Given the description of an element on the screen output the (x, y) to click on. 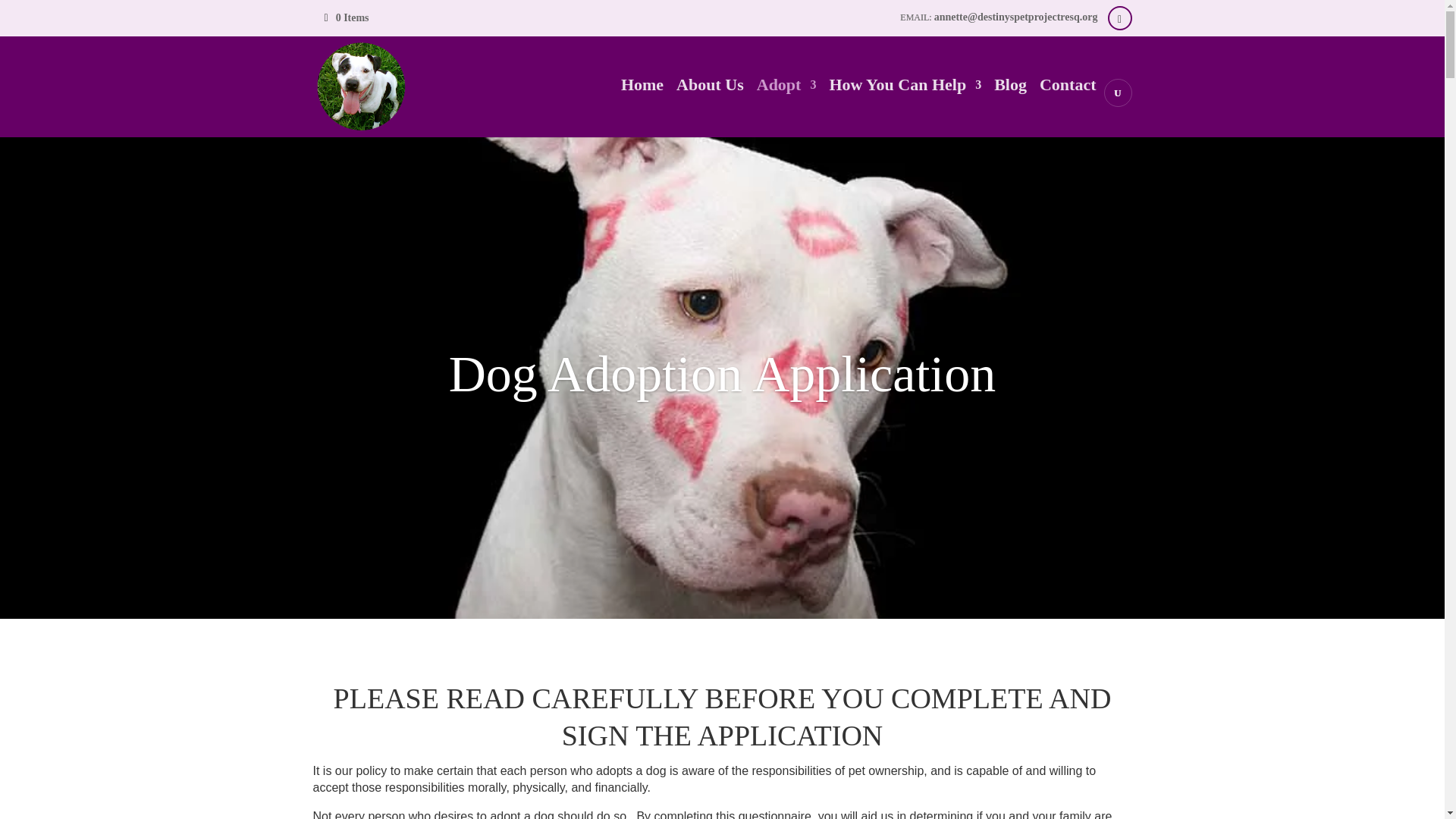
Contact (1067, 108)
How You Can Help (904, 108)
0 Items (346, 17)
About Us (710, 108)
Adopt (786, 108)
